Given the description of an element on the screen output the (x, y) to click on. 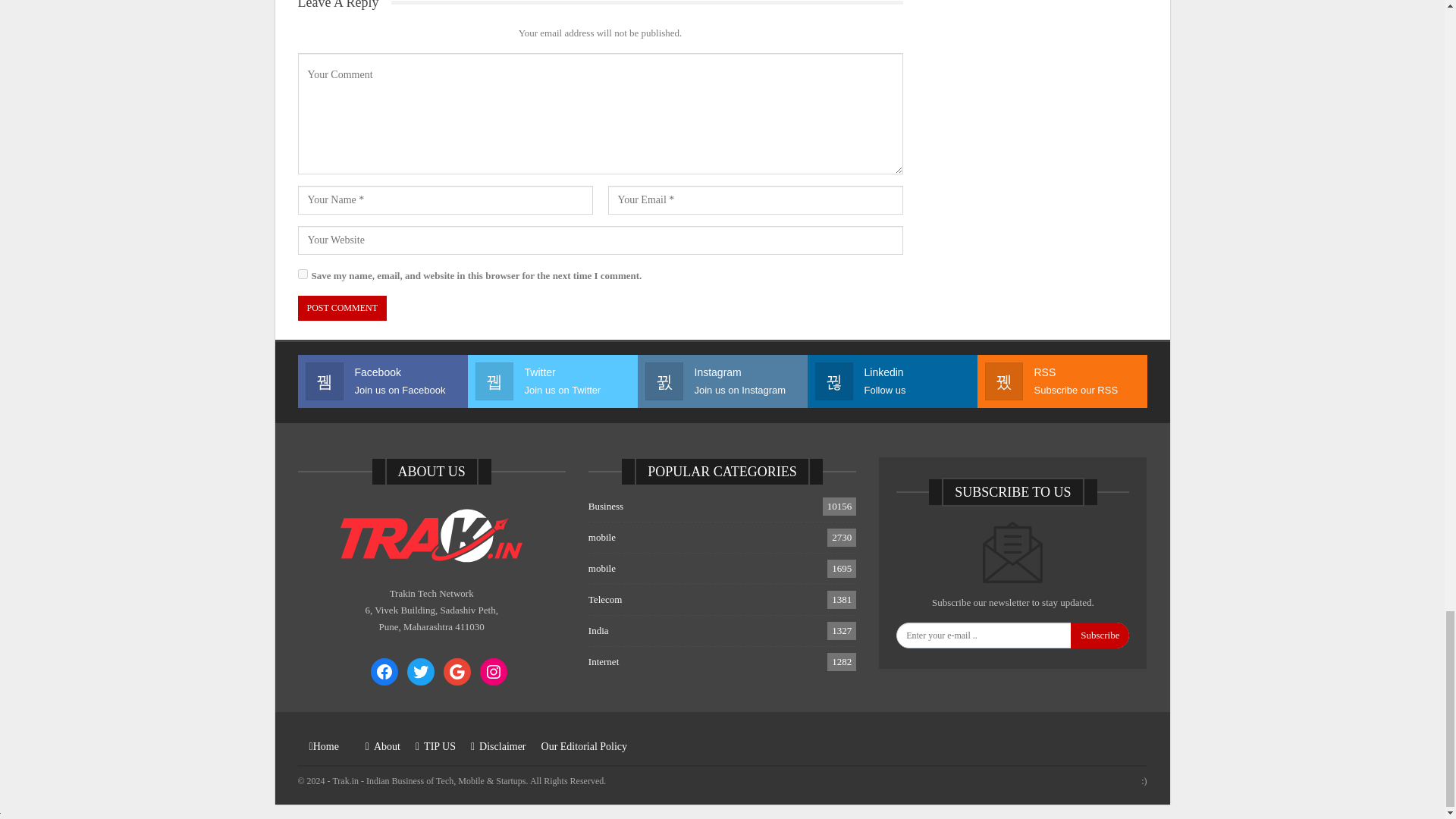
yes (302, 274)
Post Comment (341, 308)
